Given the description of an element on the screen output the (x, y) to click on. 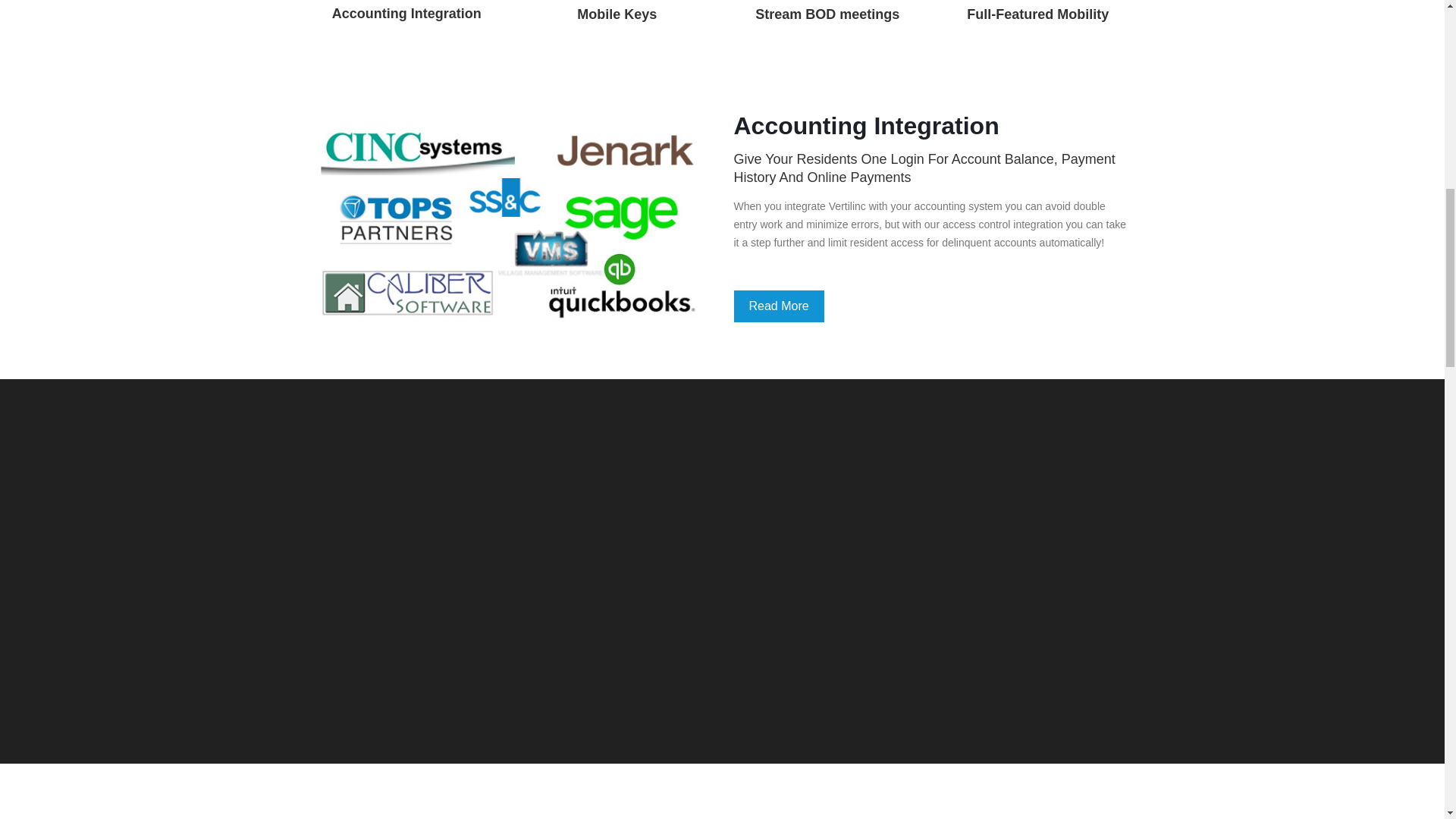
Mobile Keys (617, 18)
Read More (778, 306)
Stream BOD meetings (827, 18)
Accounting Integration (406, 17)
Full-Featured Mobility (1037, 18)
